Given the description of an element on the screen output the (x, y) to click on. 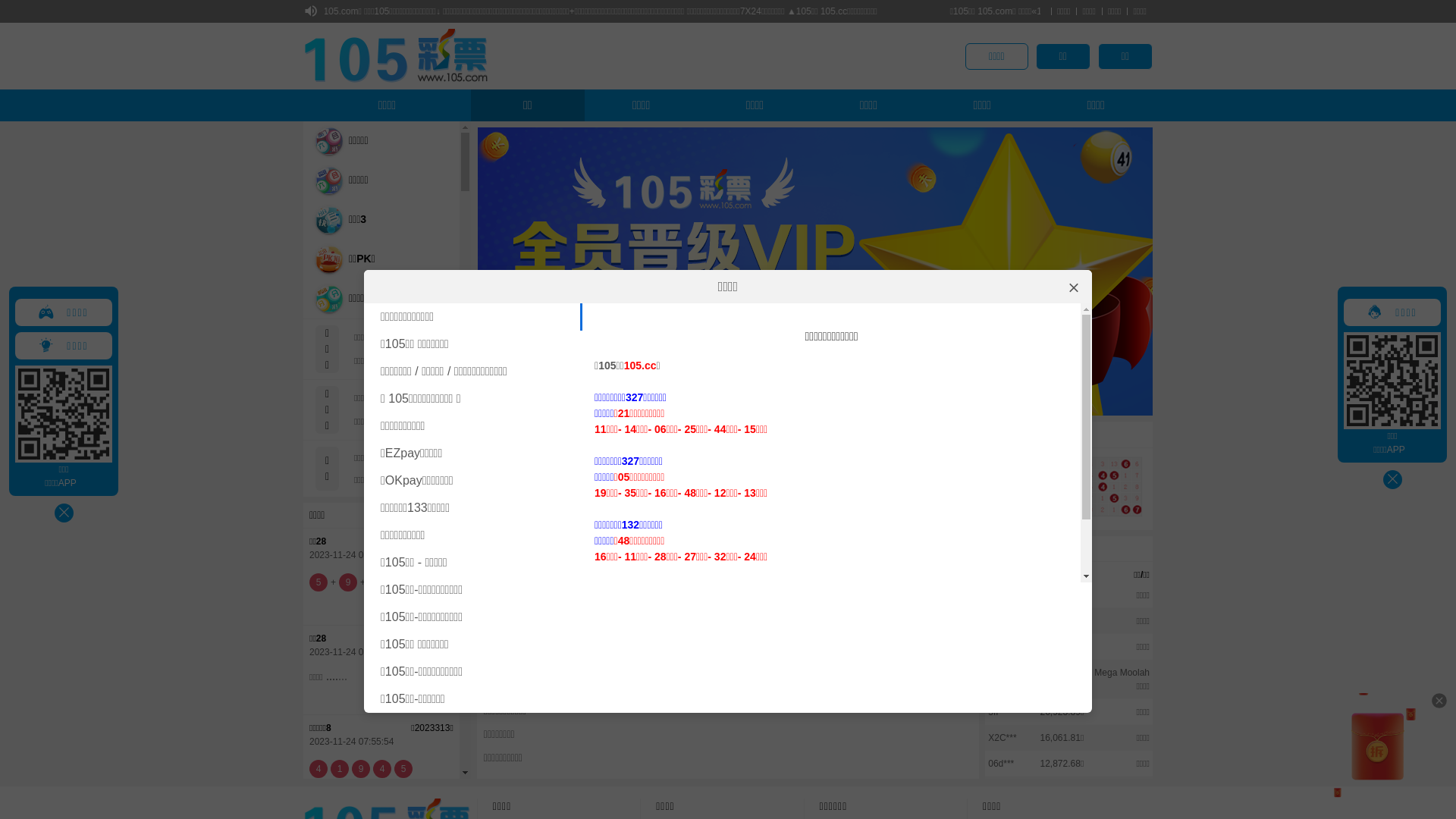
10 Element type: text (825, 400)
8 Element type: text (774, 400)
14 Element type: text (929, 400)
5 Element type: text (696, 400)
2 Element type: text (619, 400)
9 Element type: text (800, 400)
16 Element type: text (980, 400)
18 Element type: text (1032, 400)
4 Element type: text (671, 400)
17 Element type: text (1006, 400)
15 Element type: text (954, 400)
1 Element type: text (593, 400)
6 Element type: text (722, 400)
12 Element type: text (877, 400)
3 Element type: text (645, 400)
13 Element type: text (903, 400)
11 Element type: text (851, 400)
7 Element type: text (748, 400)
